Given the description of an element on the screen output the (x, y) to click on. 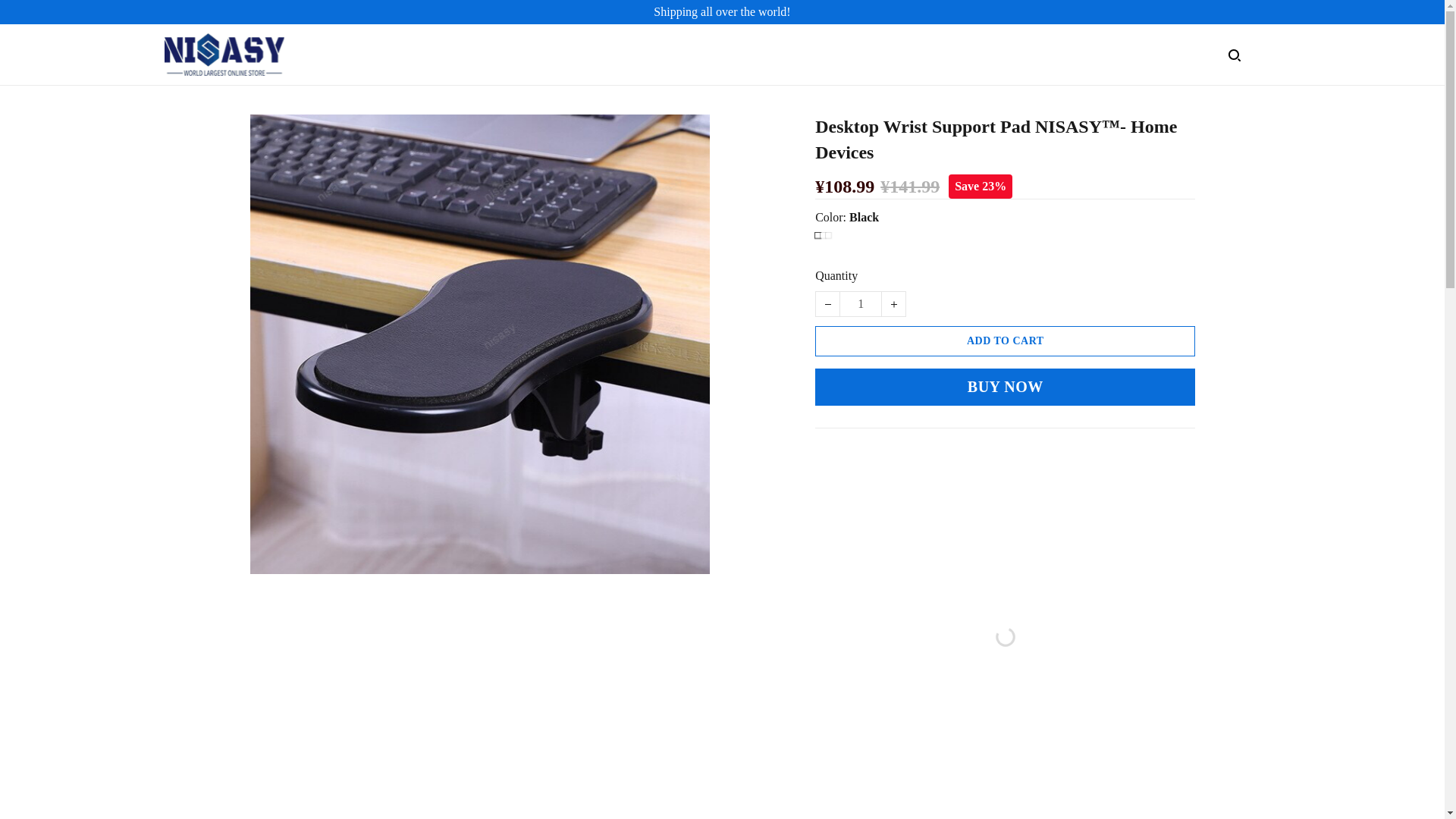
1 (860, 303)
BUY NOW (1005, 386)
ADD TO CART (1005, 340)
